Given the description of an element on the screen output the (x, y) to click on. 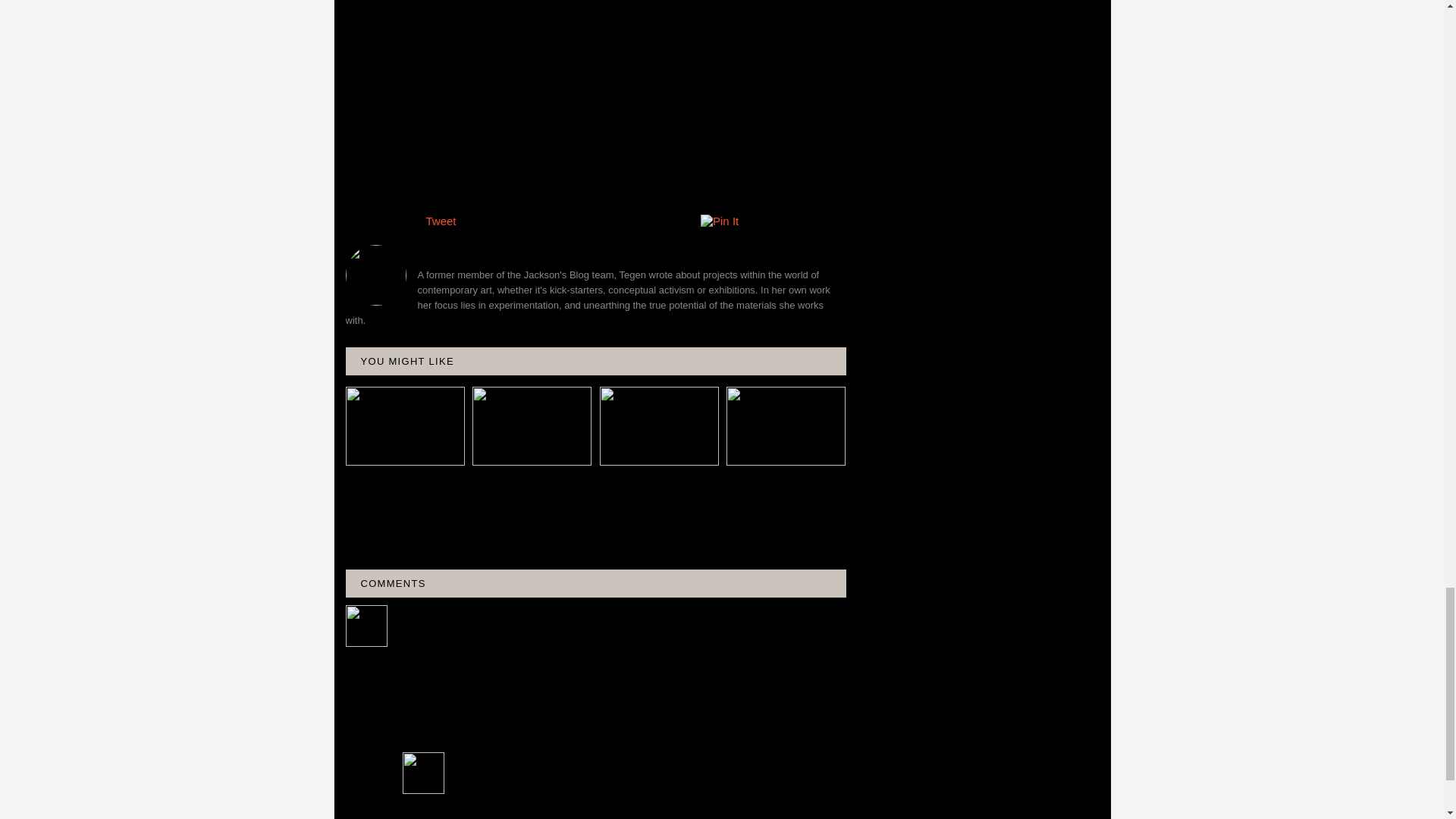
Posts by Tegen Hager-Suart (595, 250)
Pin It (719, 220)
our range of Gamblin oil paints here (474, 118)
GAMBLIN (531, 185)
OIL PAINT (589, 185)
Kickstarter campaign (404, 98)
Permanent Link: How We Collaborate With Artists (402, 481)
which you can read about here (685, 137)
ENVIRONMENT (462, 185)
